Given the description of an element on the screen output the (x, y) to click on. 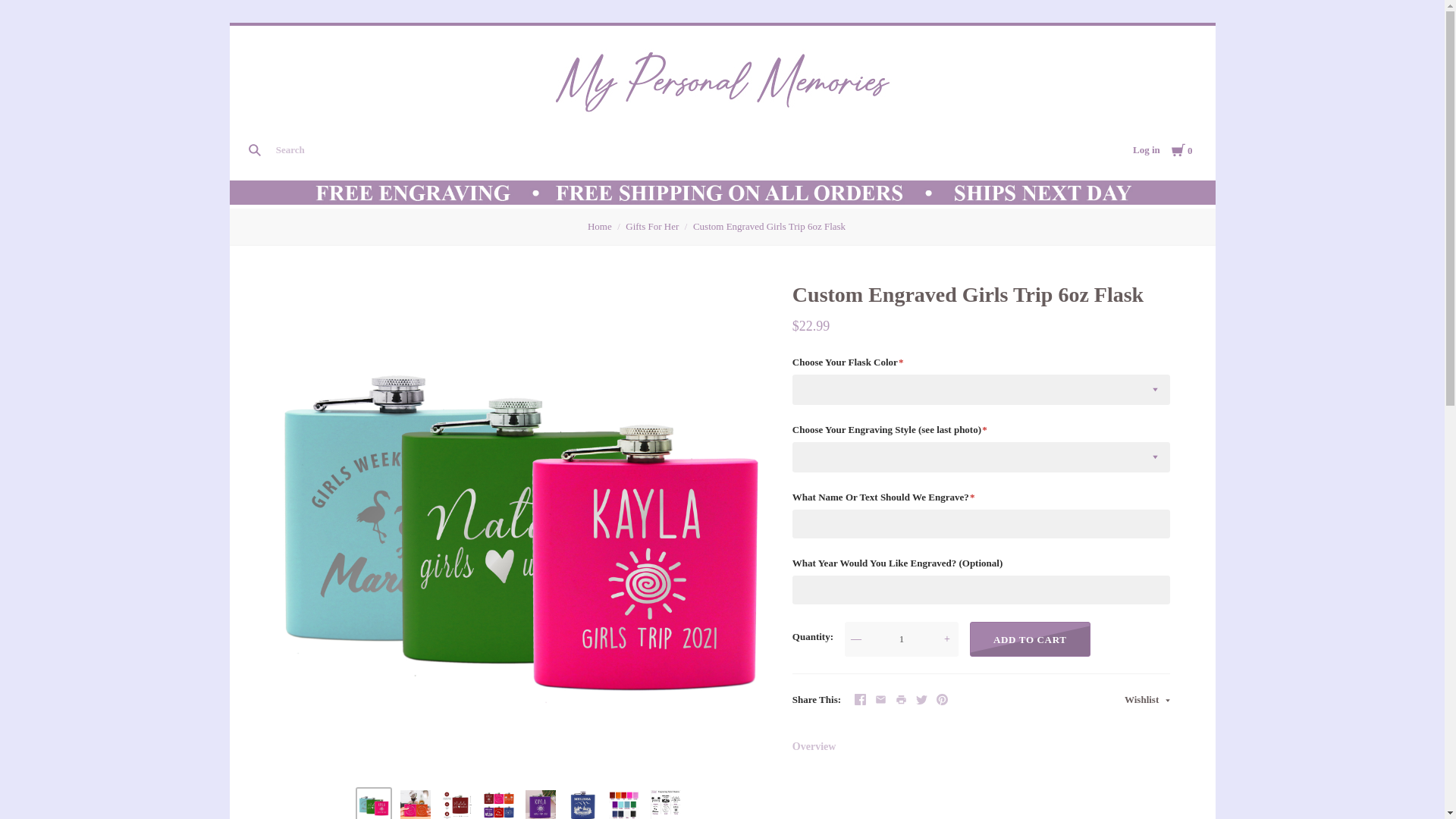
Custom Engraved Girls Trip 6oz Flask (665, 804)
Custom Engraved Girls Trip 6oz Flask (540, 804)
Custom Engraved Girls Trip 6oz Flask (373, 804)
Custom Engraved Girls Trip 6oz Flask (623, 804)
Custom Engraved Girls Trip 6oz Flask (498, 804)
1 (901, 638)
Custom Engraved Girls Trip 6oz Flask (456, 804)
Custom Engraved Girls Trip 6oz Flask (581, 804)
Custom Engraved Girls Trip 6oz Flask (415, 804)
